Given the description of an element on the screen output the (x, y) to click on. 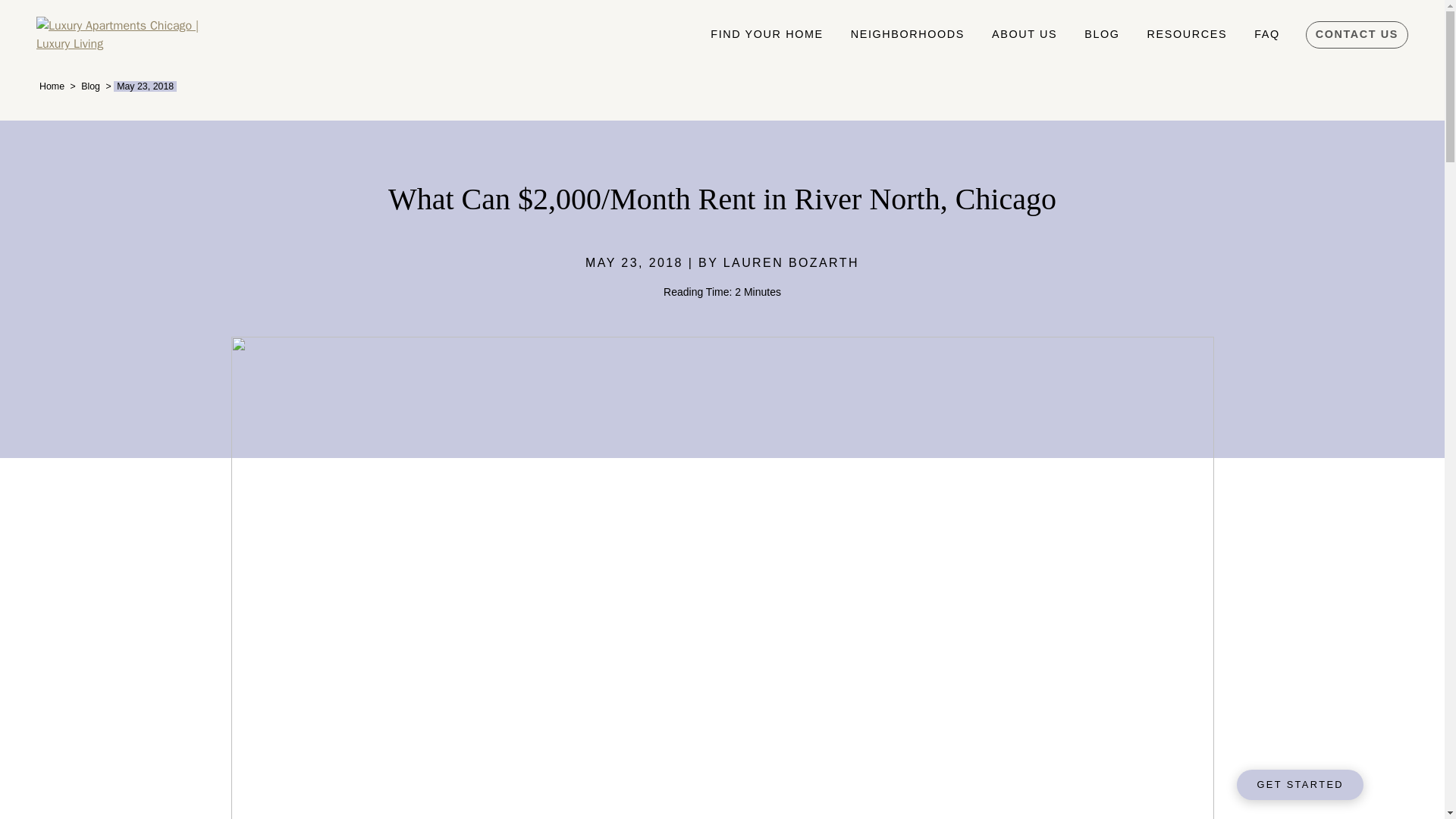
CONTACT US (1356, 34)
NEIGHBORHOODS (907, 34)
Blog (90, 86)
BLOG (1101, 34)
FAQ (1267, 34)
ABOUT US (1024, 34)
Home (51, 86)
RESOURCES (1187, 34)
FIND YOUR HOME (766, 34)
